Given the description of an element on the screen output the (x, y) to click on. 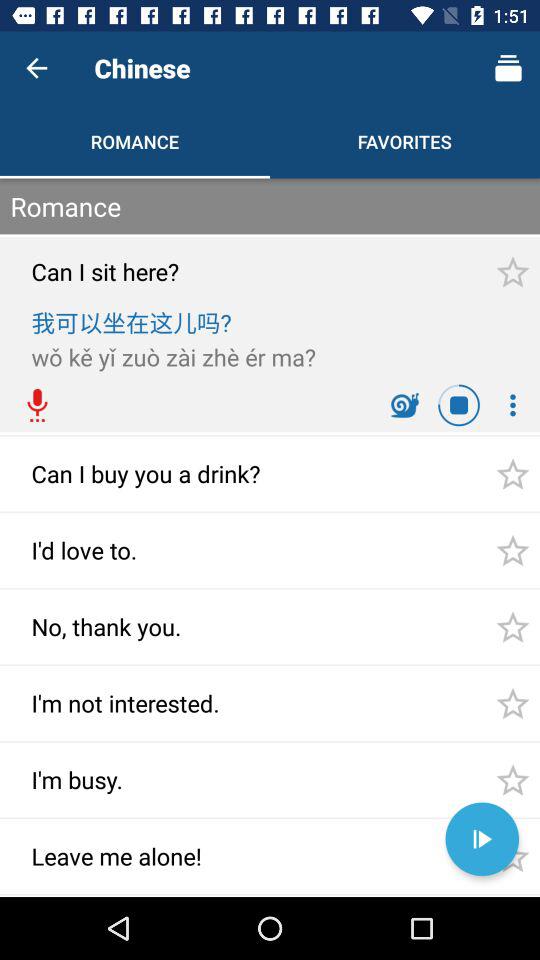
click on more options icon (512, 405)
select the second star from top (512, 473)
click on the star right to id love to (512, 550)
